Given the description of an element on the screen output the (x, y) to click on. 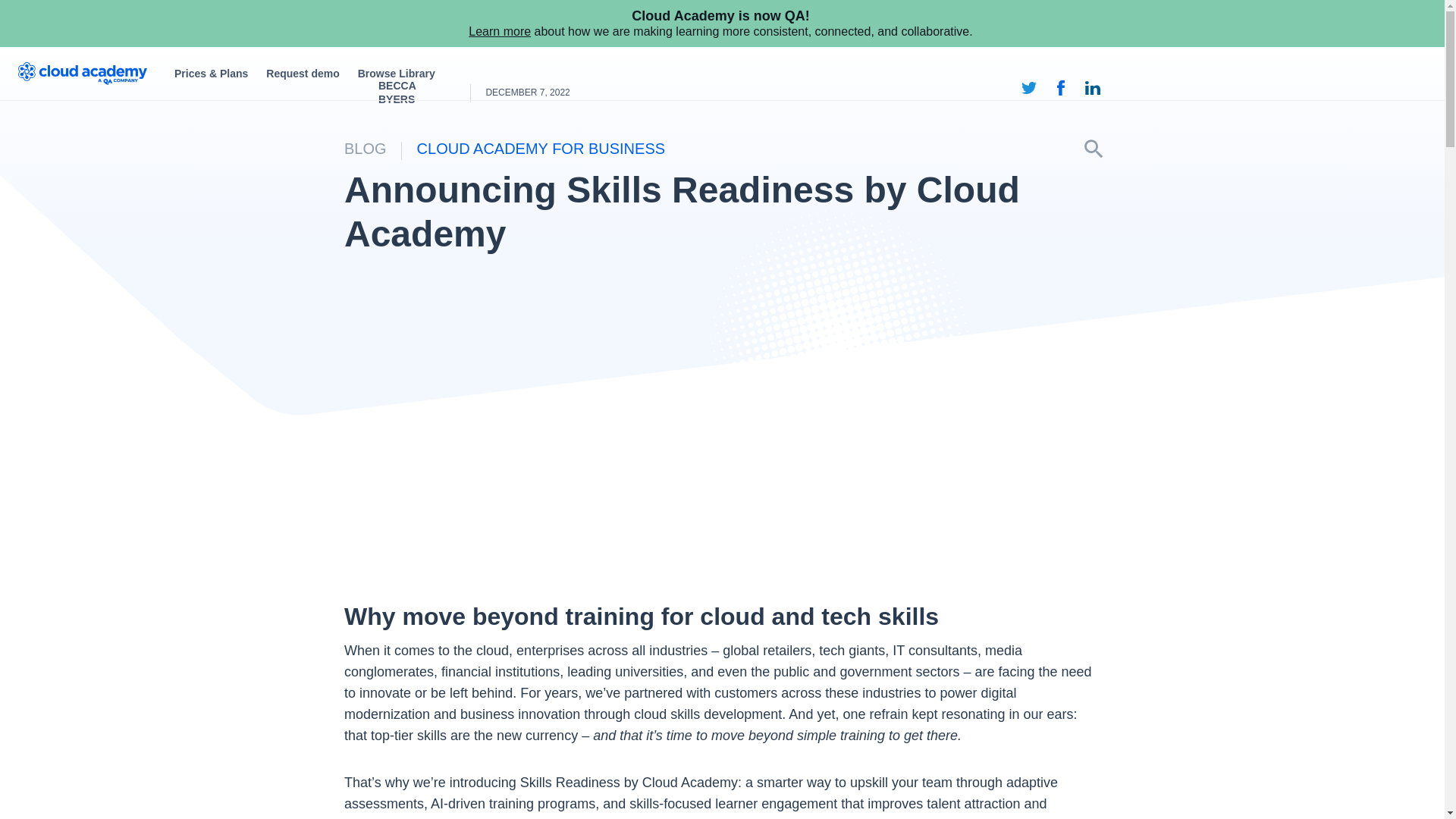
Browse Library (396, 72)
BLOG (365, 148)
Learn more (499, 31)
Request demo (302, 72)
CLOUD ACADEMY FOR BUSINESS (540, 148)
